Given the description of an element on the screen output the (x, y) to click on. 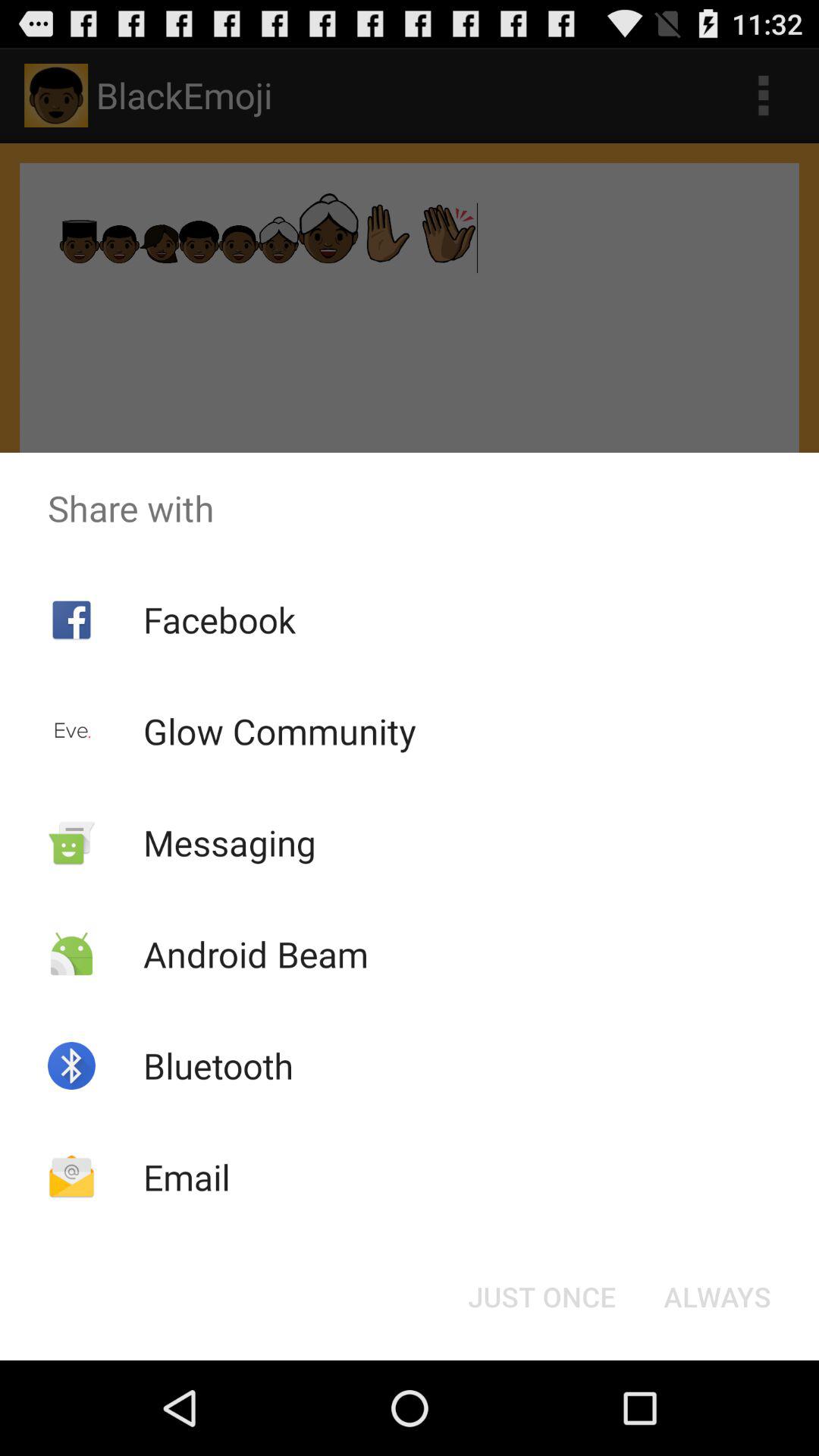
press item below the share with app (219, 619)
